Given the description of an element on the screen output the (x, y) to click on. 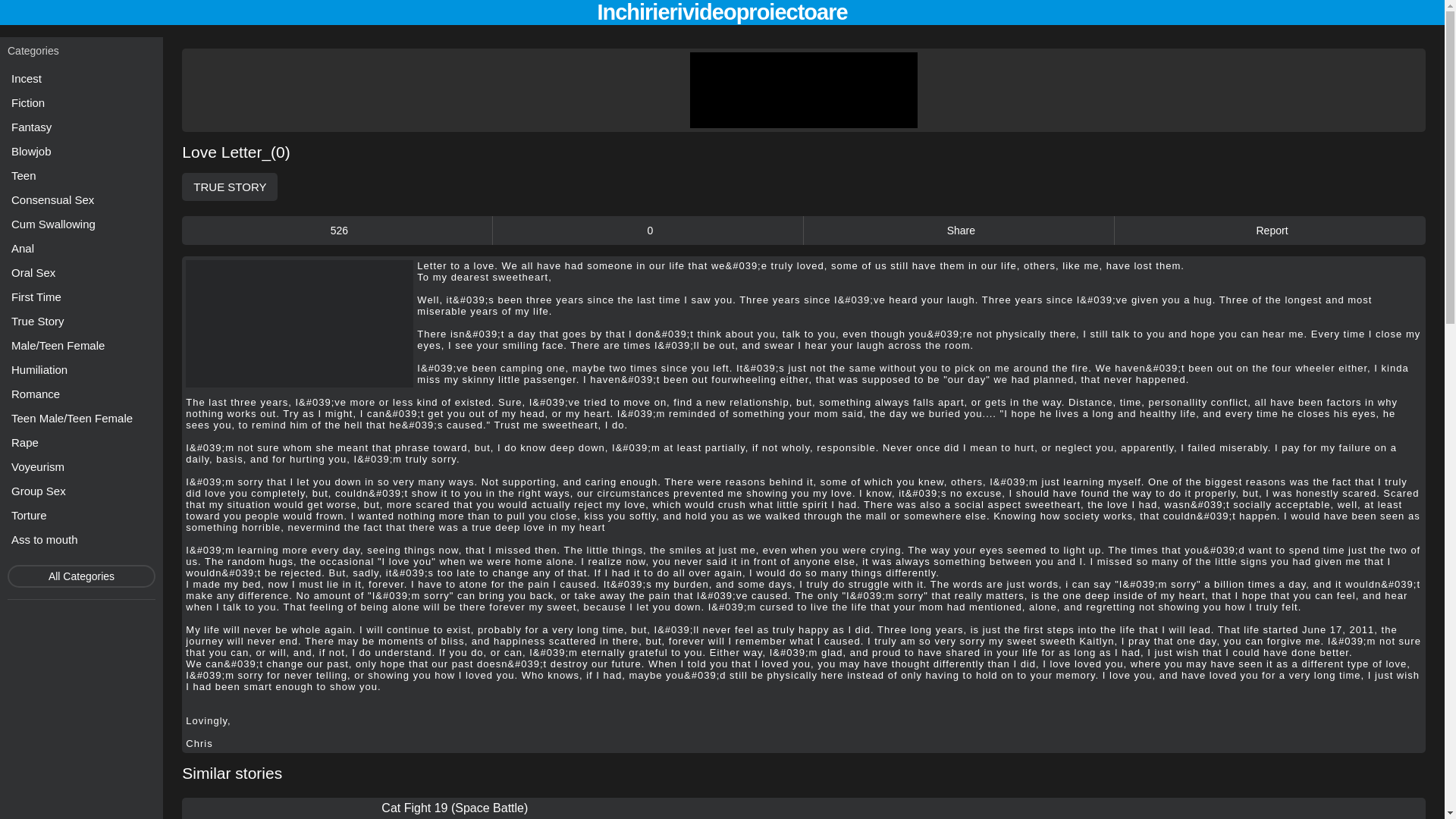
True Story (81, 321)
Ass to mouth (81, 539)
Anal (81, 248)
TRUE STORY (230, 186)
Fiction (81, 102)
Oral Sex (81, 272)
Torture (81, 515)
Inchirierivideoproiectoare (721, 12)
Fantasy (81, 127)
Humiliation (81, 369)
